Given the description of an element on the screen output the (x, y) to click on. 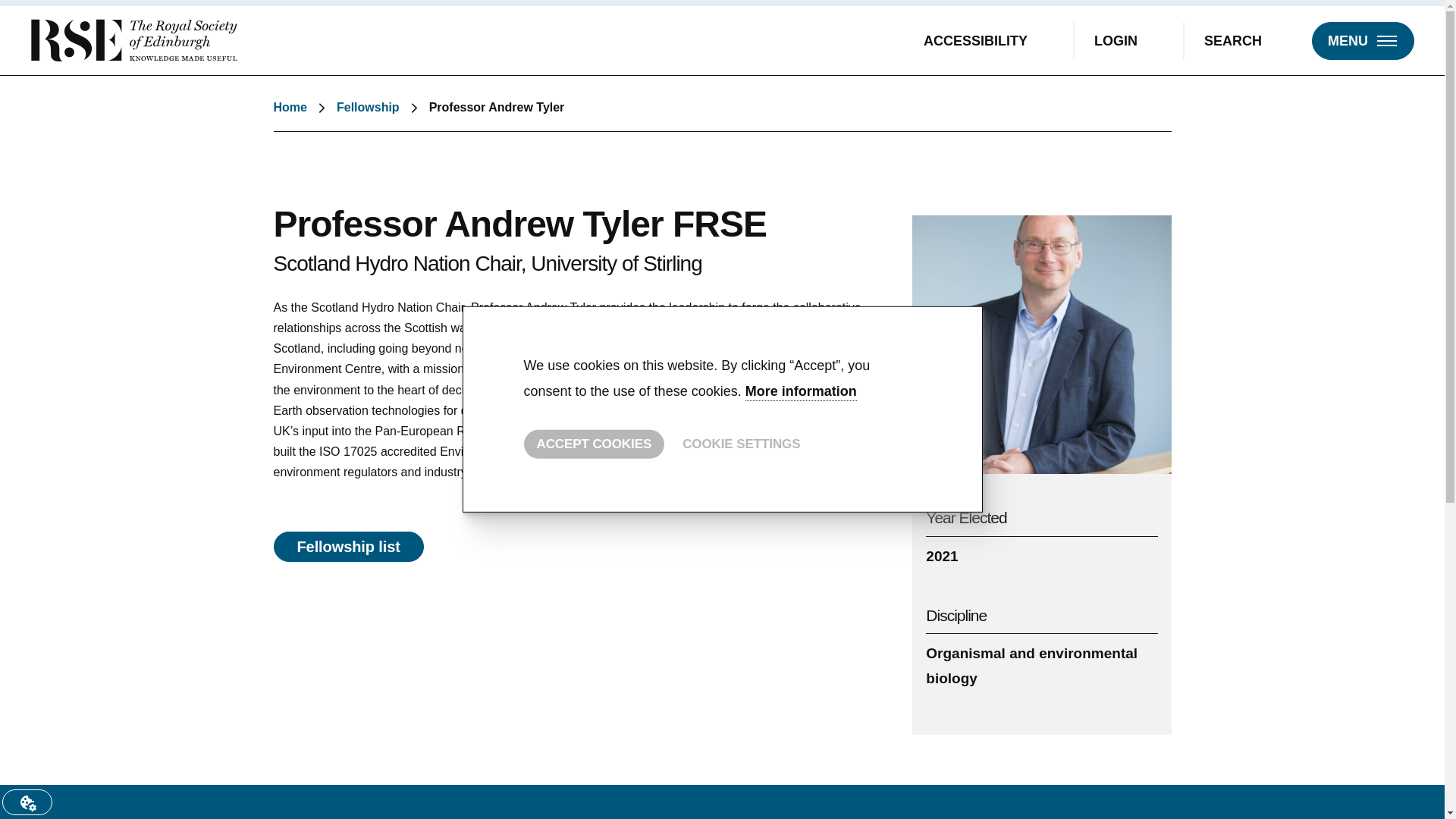
ACCESSIBILITY (988, 39)
SEARCH (1246, 39)
LOGIN (1128, 39)
MENU (1362, 39)
